Given the description of an element on the screen output the (x, y) to click on. 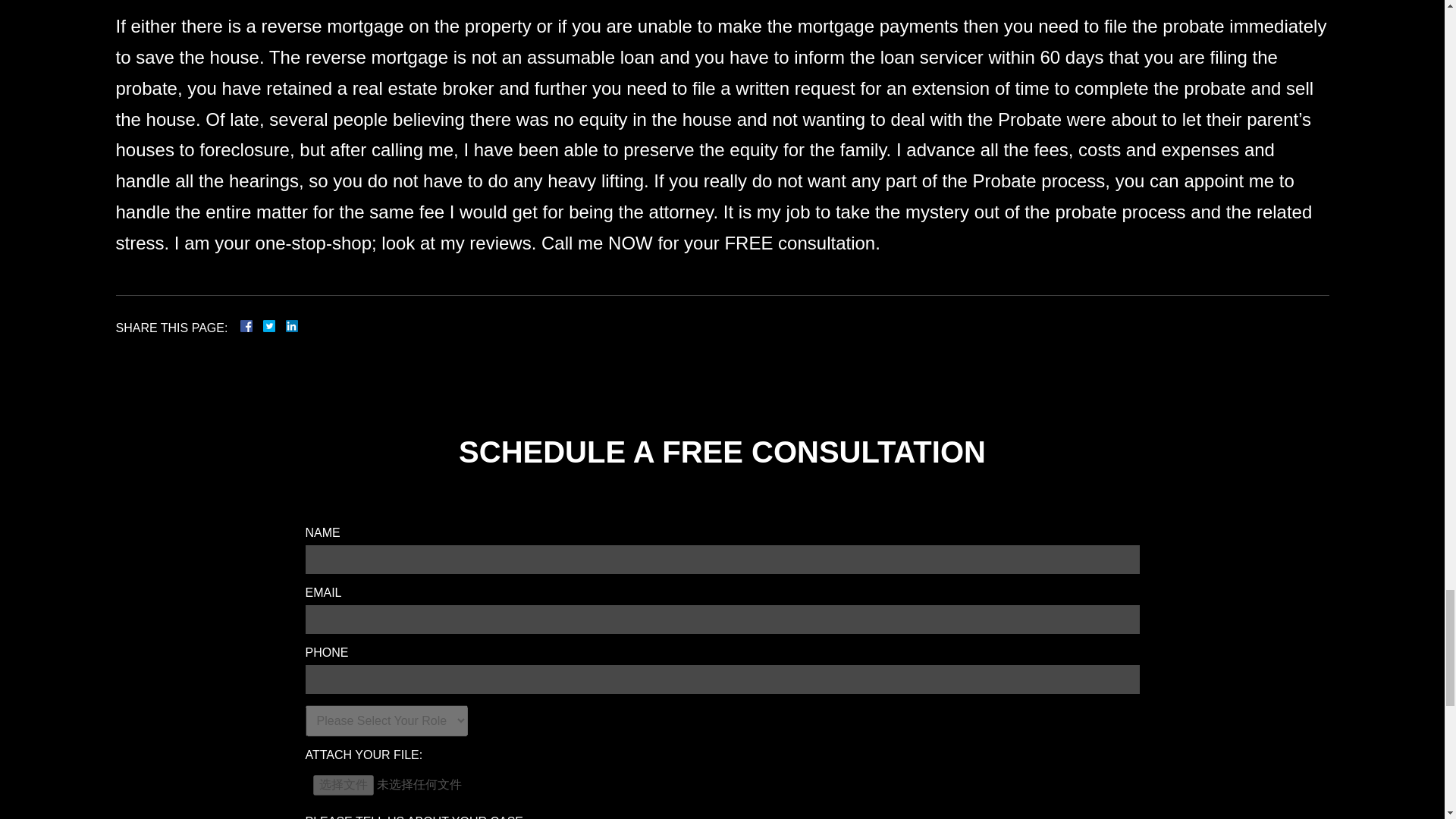
LinkedIn (286, 326)
Facebook (264, 326)
Twitter (274, 326)
